Given the description of an element on the screen output the (x, y) to click on. 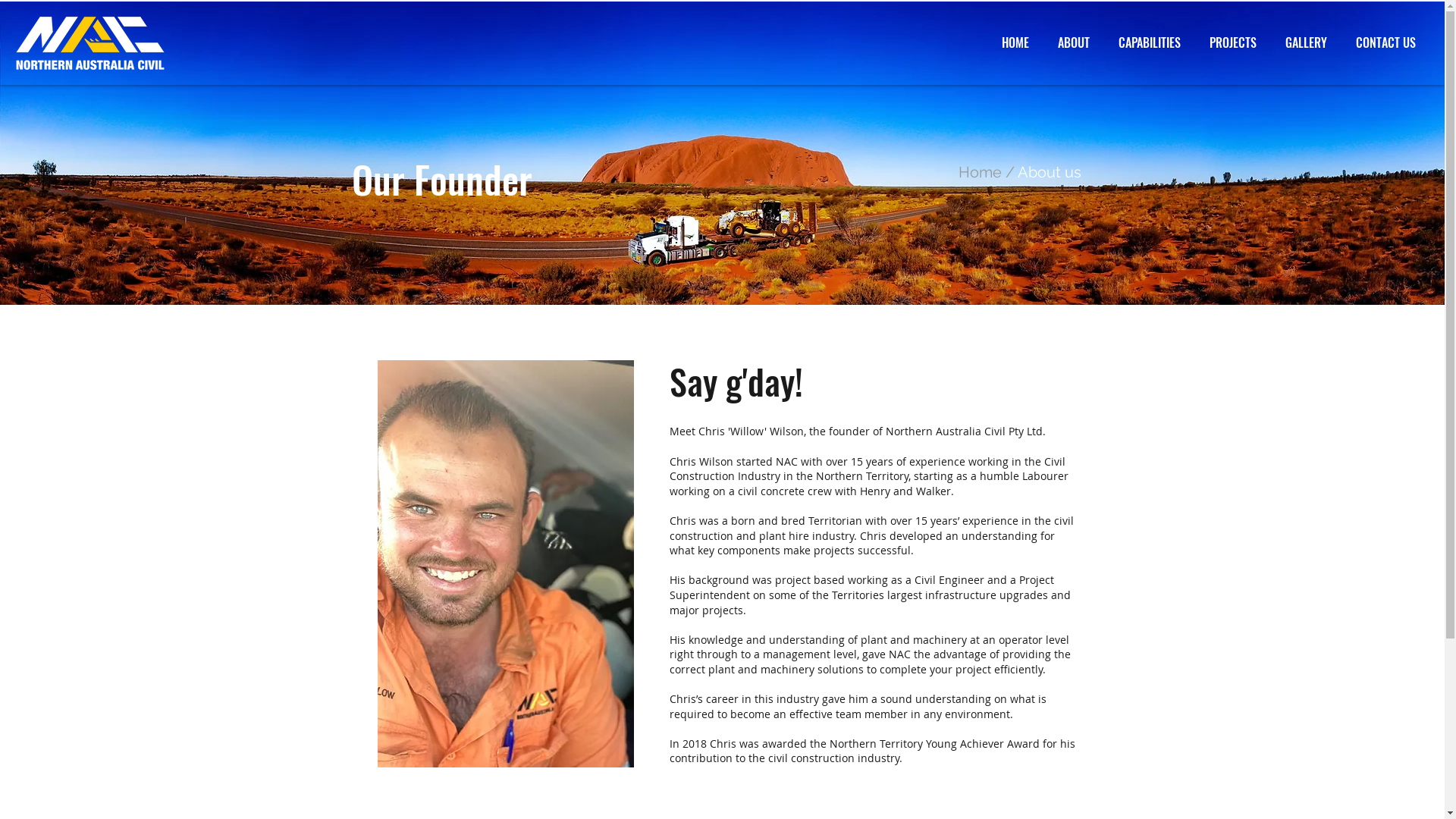
CONTACT US Element type: text (1384, 42)
ABOUT Element type: text (1072, 42)
HOME Element type: text (1014, 42)
GALLERY Element type: text (1305, 42)
PROJECTS Element type: text (1232, 42)
Home Element type: text (979, 172)
